Given the description of an element on the screen output the (x, y) to click on. 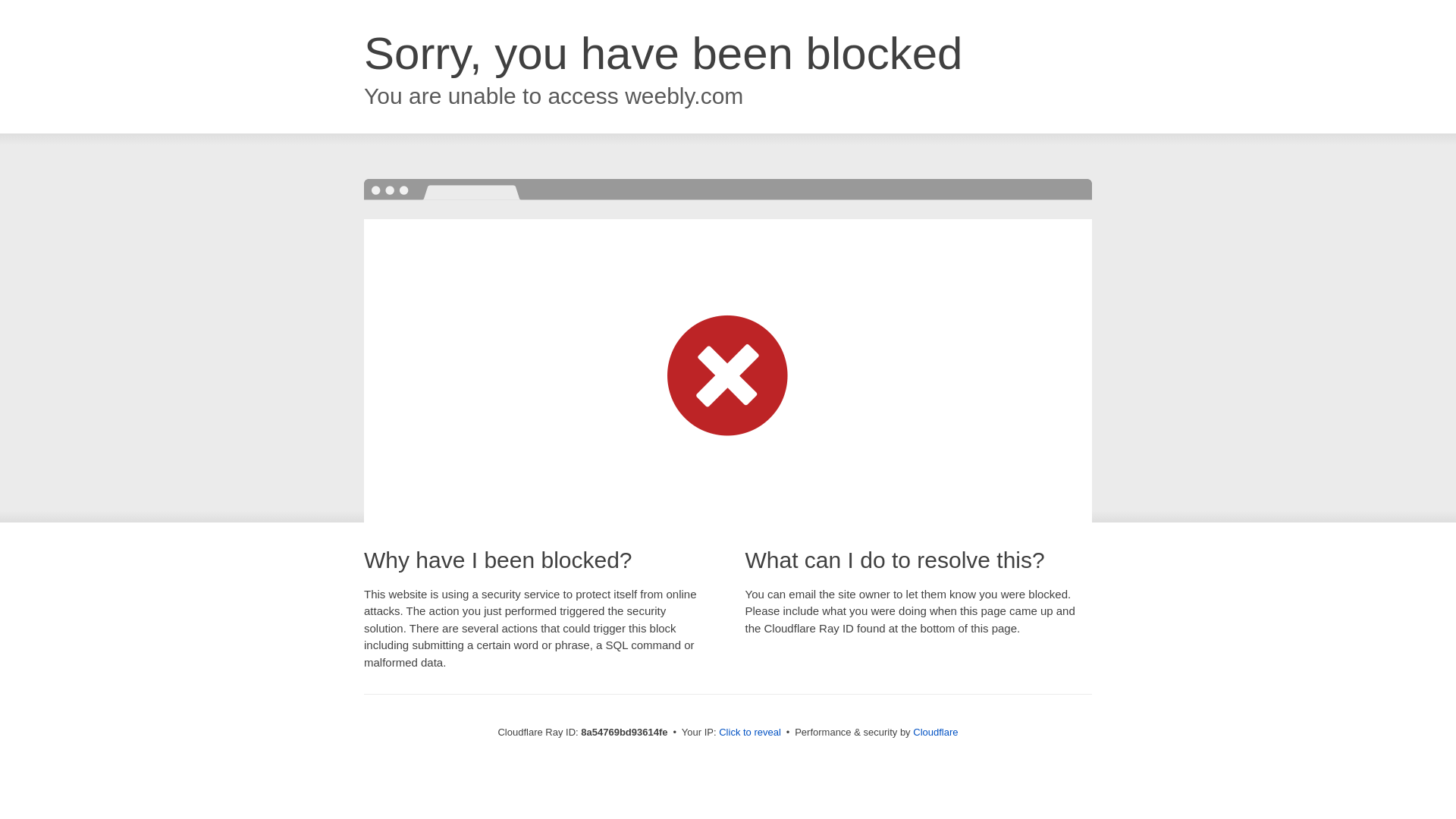
Click to reveal (749, 732)
Cloudflare (935, 731)
